Given the description of an element on the screen output the (x, y) to click on. 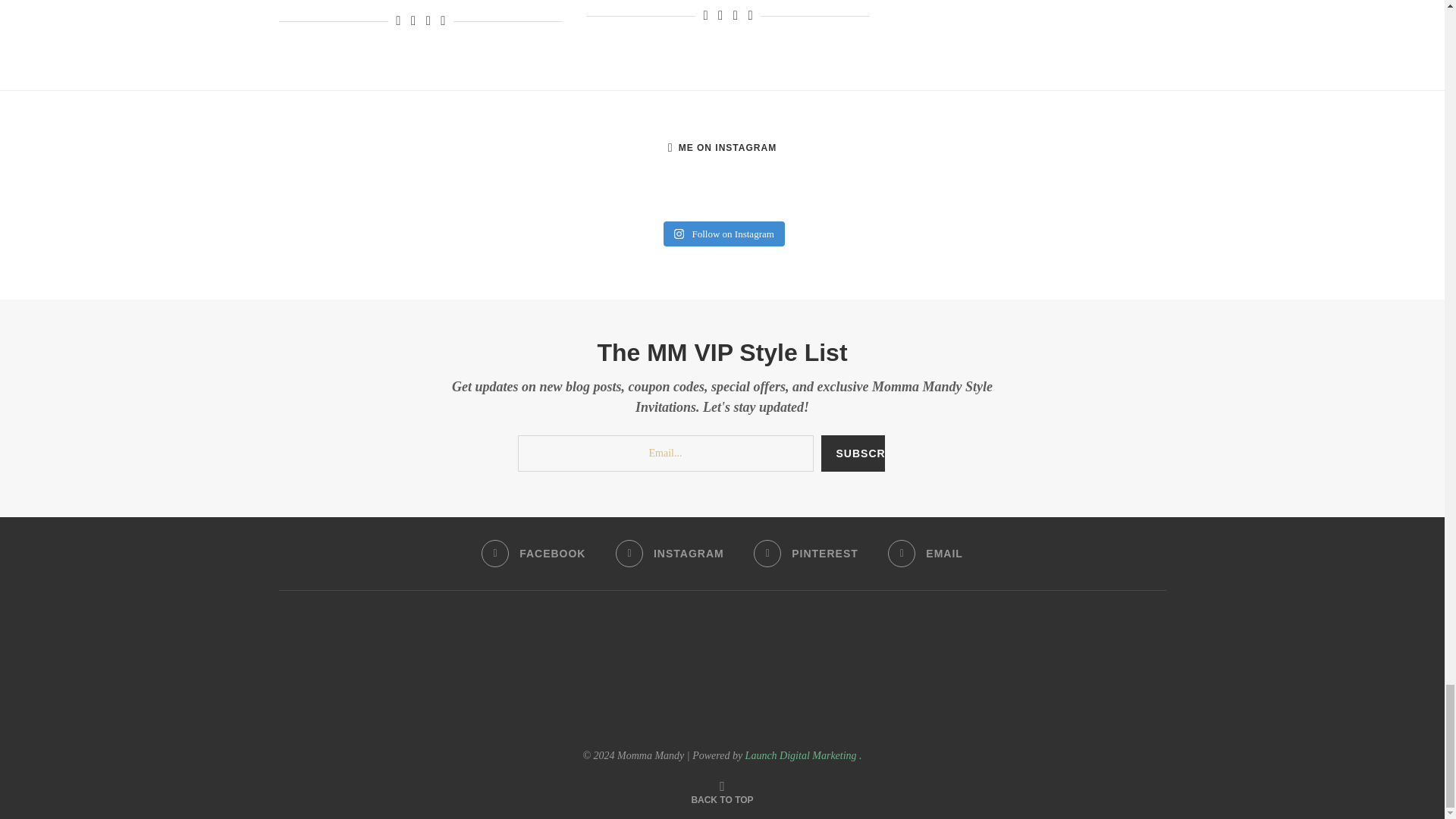
Subscribe (852, 452)
Like (398, 20)
Like (705, 15)
